Given the description of an element on the screen output the (x, y) to click on. 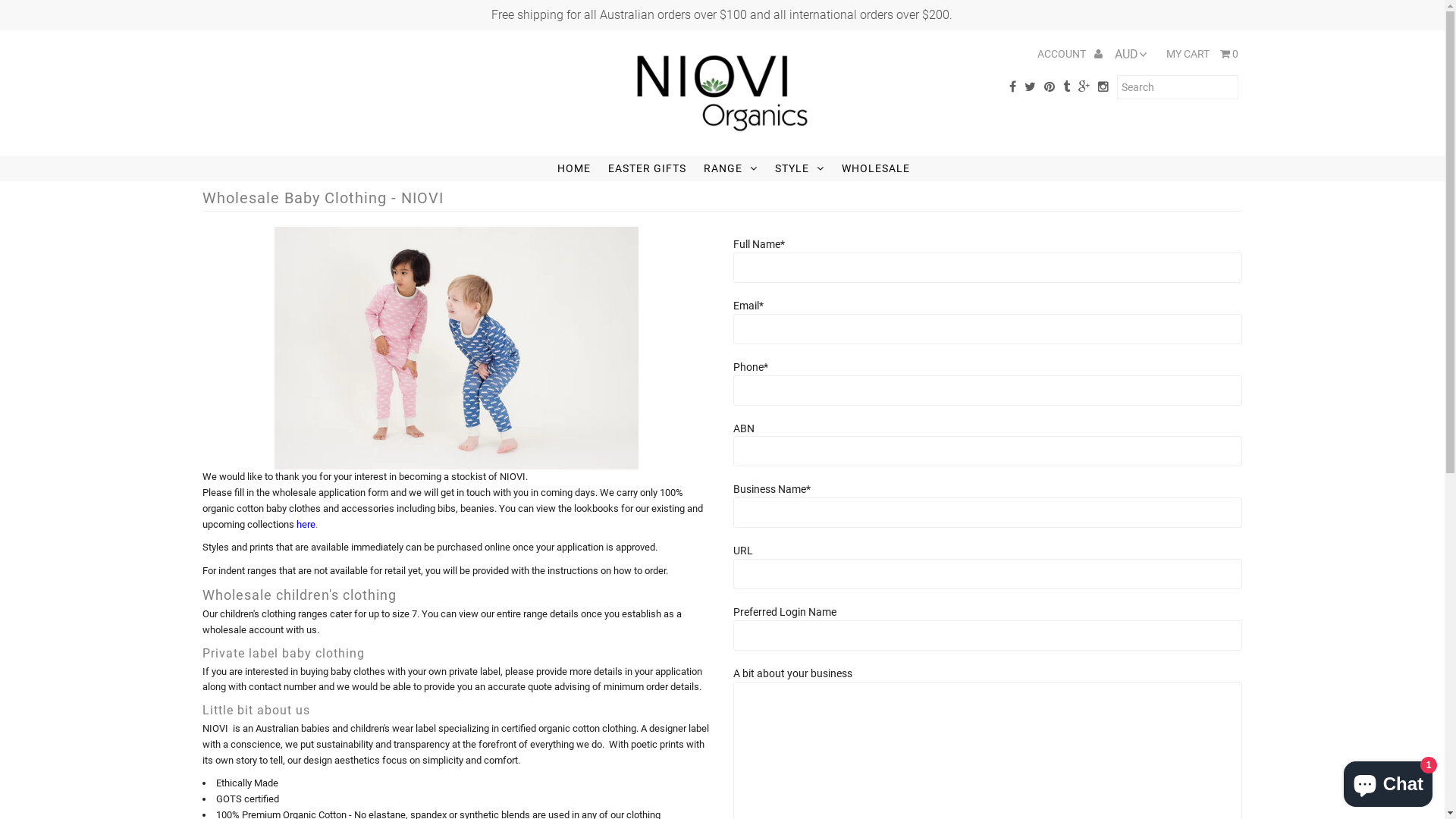
HOME Element type: text (573, 168)
MY CART   0 Element type: text (1202, 53)
EASTER GIFTS Element type: text (646, 168)
WHOLESALE Element type: text (875, 168)
here. Element type: text (306, 524)
Shopify online store chat Element type: hover (1388, 780)
RANGE Element type: text (730, 168)
STYLE Element type: text (799, 168)
ACCOUNT Element type: text (1069, 53)
